Given the description of an element on the screen output the (x, y) to click on. 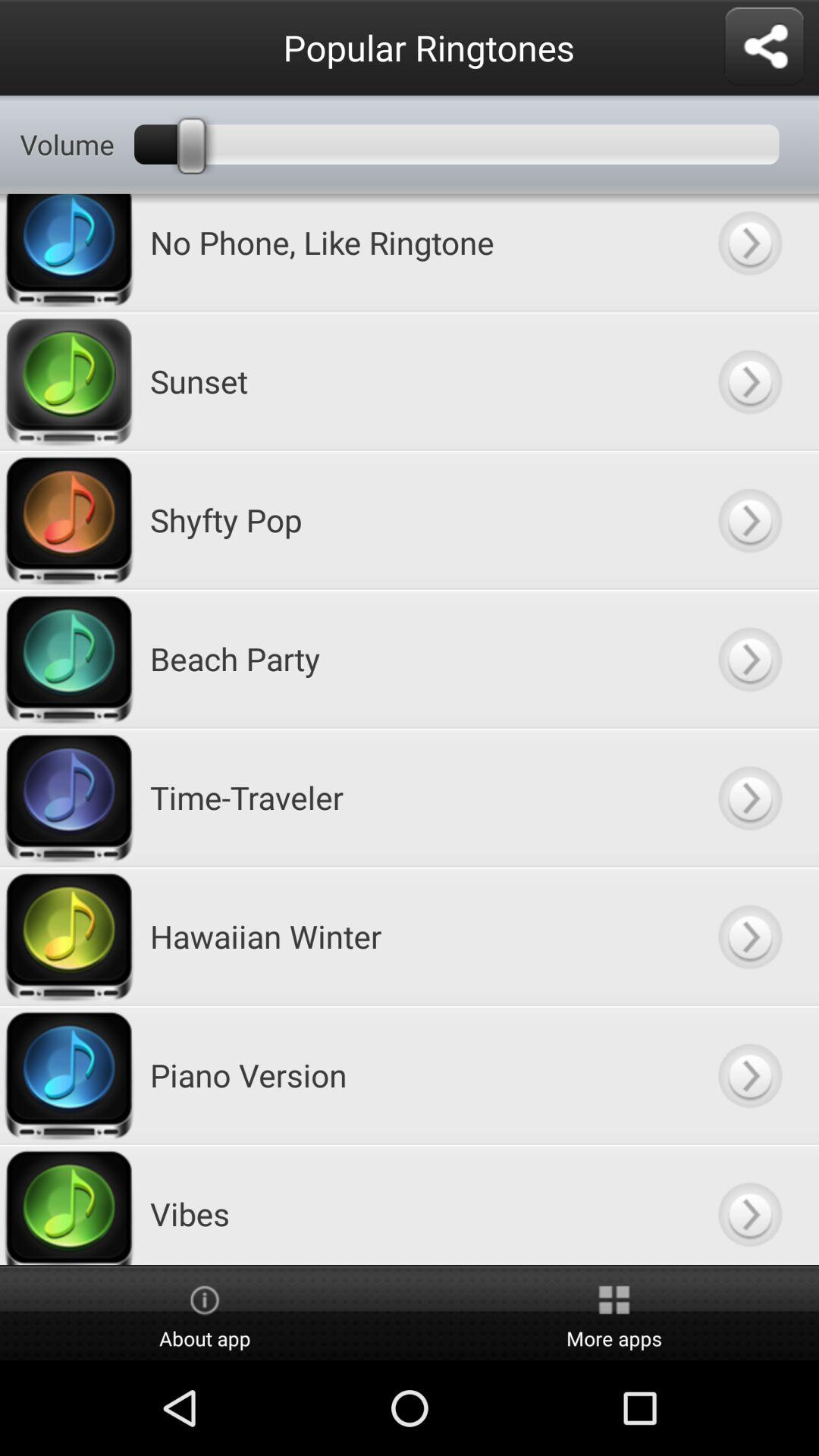
play (749, 797)
